Given the description of an element on the screen output the (x, y) to click on. 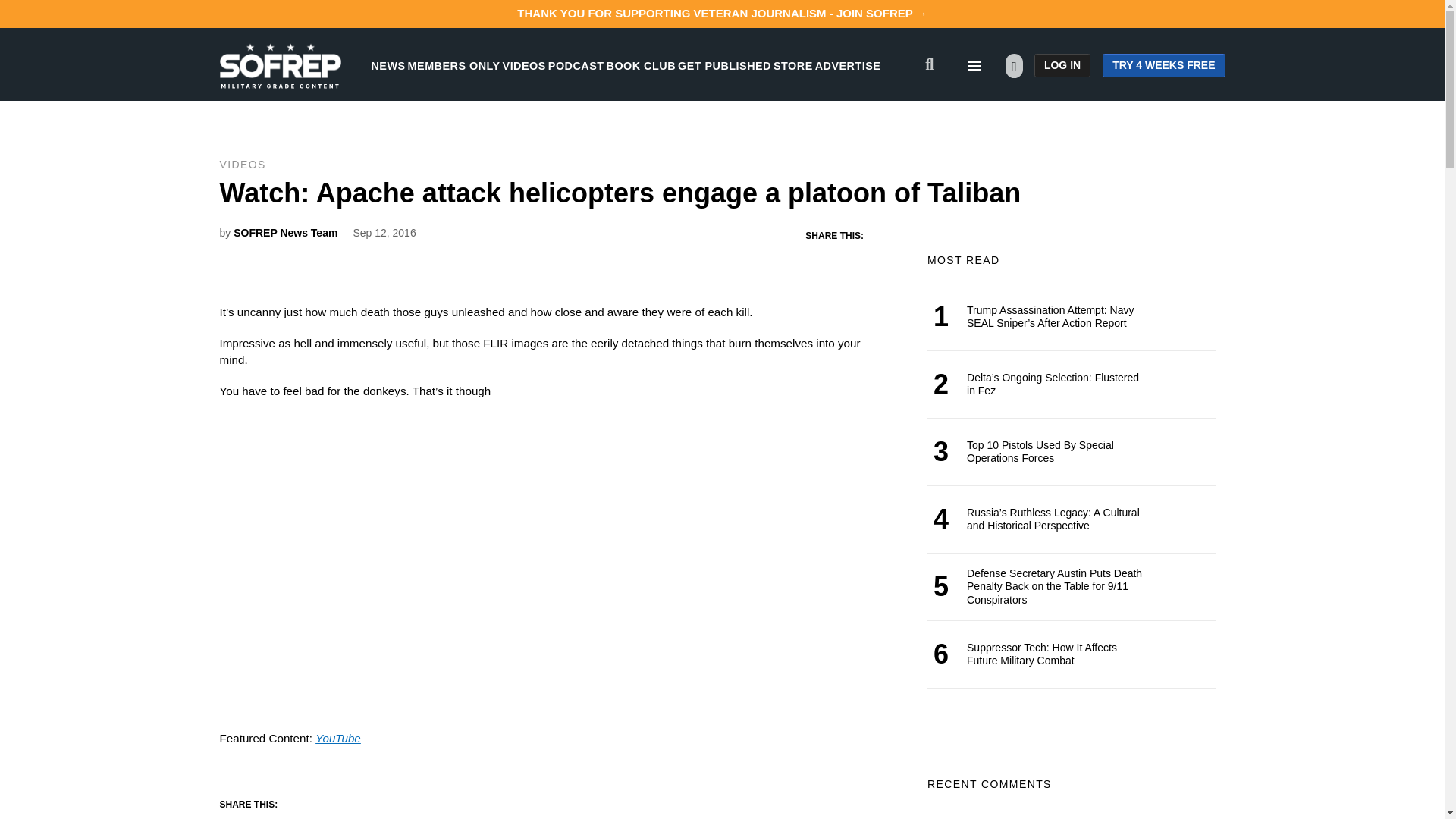
ADVERTISE (847, 65)
GET PUBLISHED (724, 65)
TRY 4 WEEKS FREE (1163, 65)
BOOK CLUB (641, 65)
MEMBERS ONLY (453, 65)
LOG IN (1061, 65)
STORE (792, 65)
2 Apaches Kill A Platoon of Taliban (408, 579)
PODCAST (576, 65)
NEWS (388, 65)
VIDEOS (524, 65)
